Given the description of an element on the screen output the (x, y) to click on. 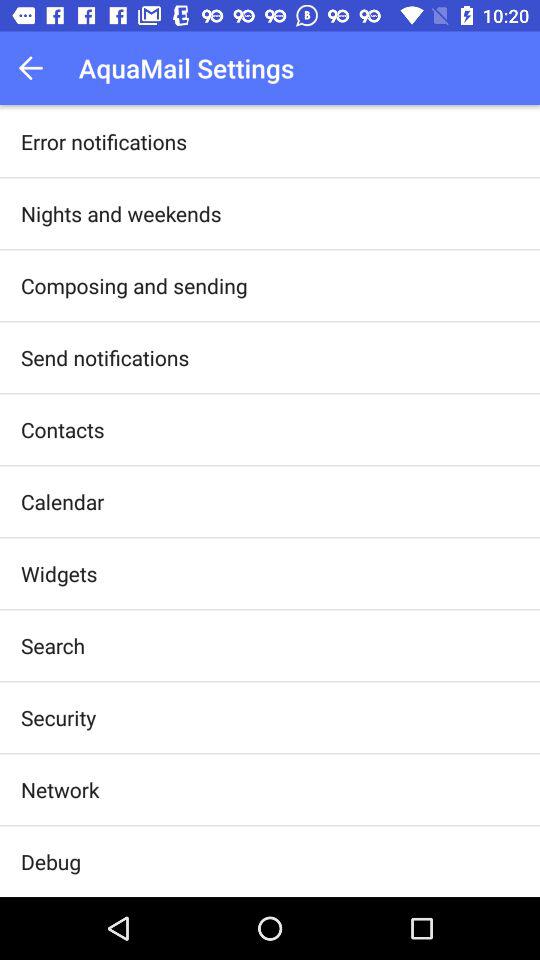
choose the debug item (51, 861)
